Given the description of an element on the screen output the (x, y) to click on. 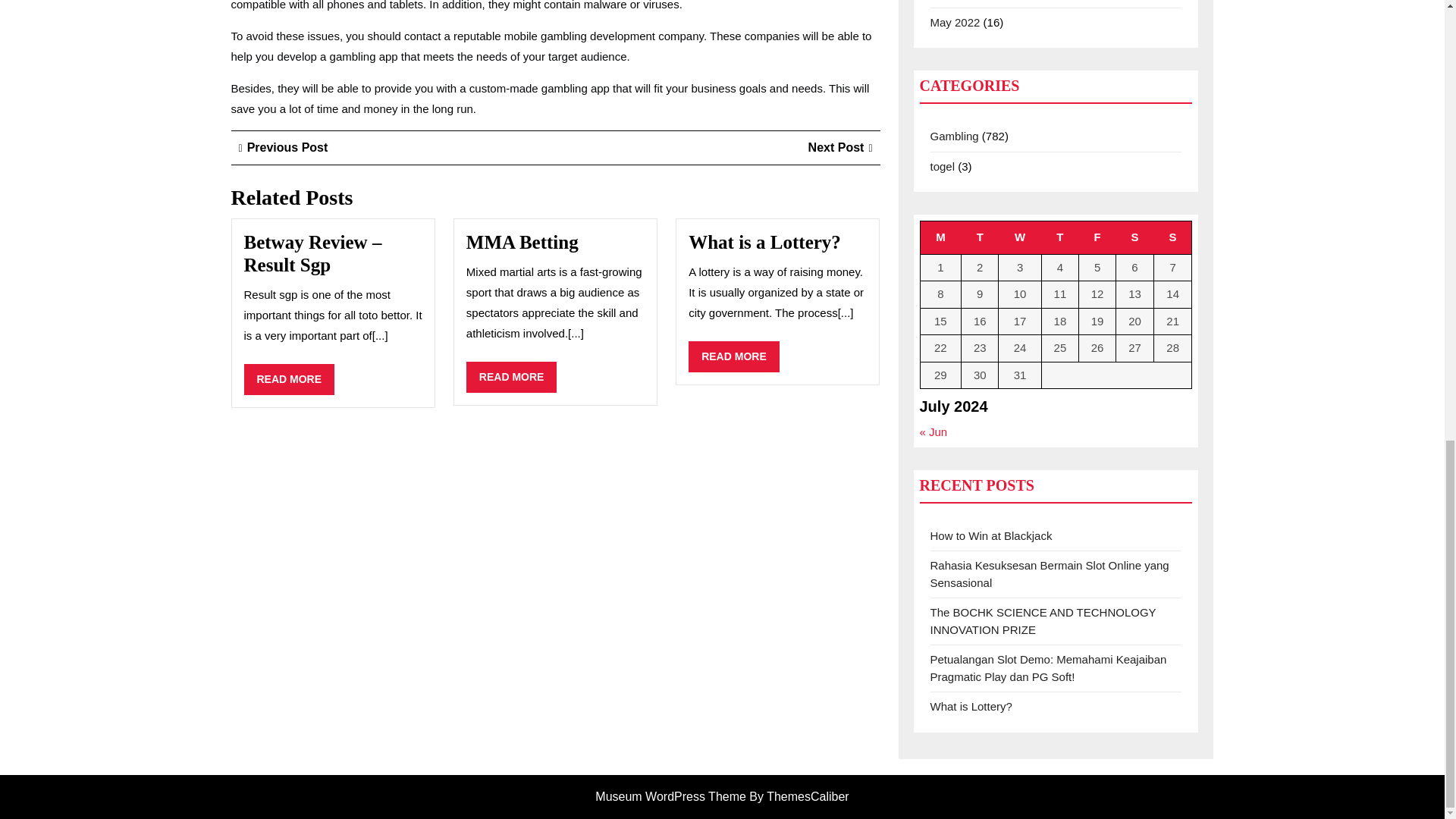
What is a Lottery? (764, 241)
Tuesday (979, 236)
MMA Betting (521, 241)
Thursday (1059, 236)
Monday (940, 236)
Wednesday (1020, 236)
Sunday (289, 378)
Friday (840, 146)
Saturday (1172, 236)
